Given the description of an element on the screen output the (x, y) to click on. 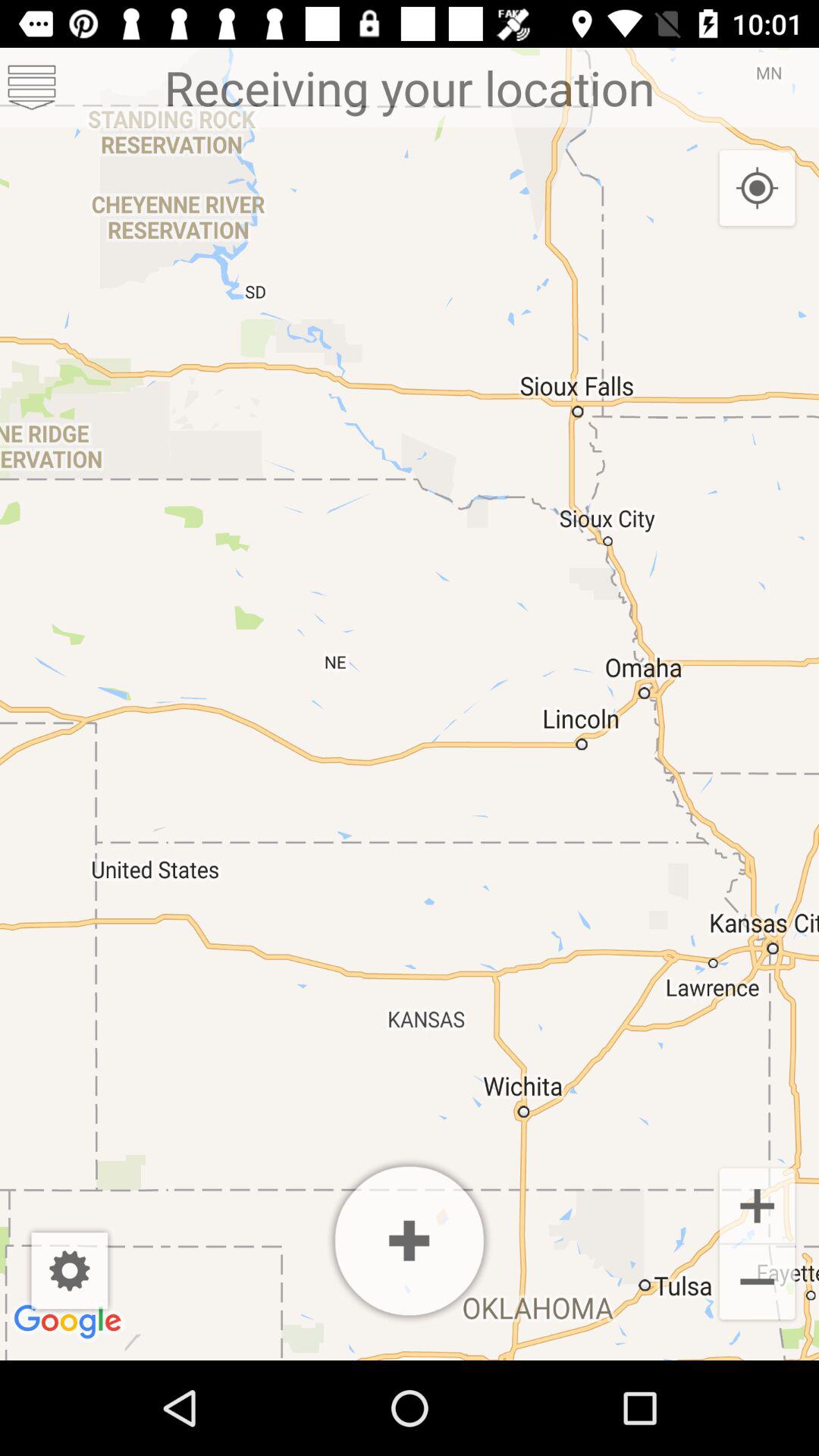
display settings (69, 1270)
